Given the description of an element on the screen output the (x, y) to click on. 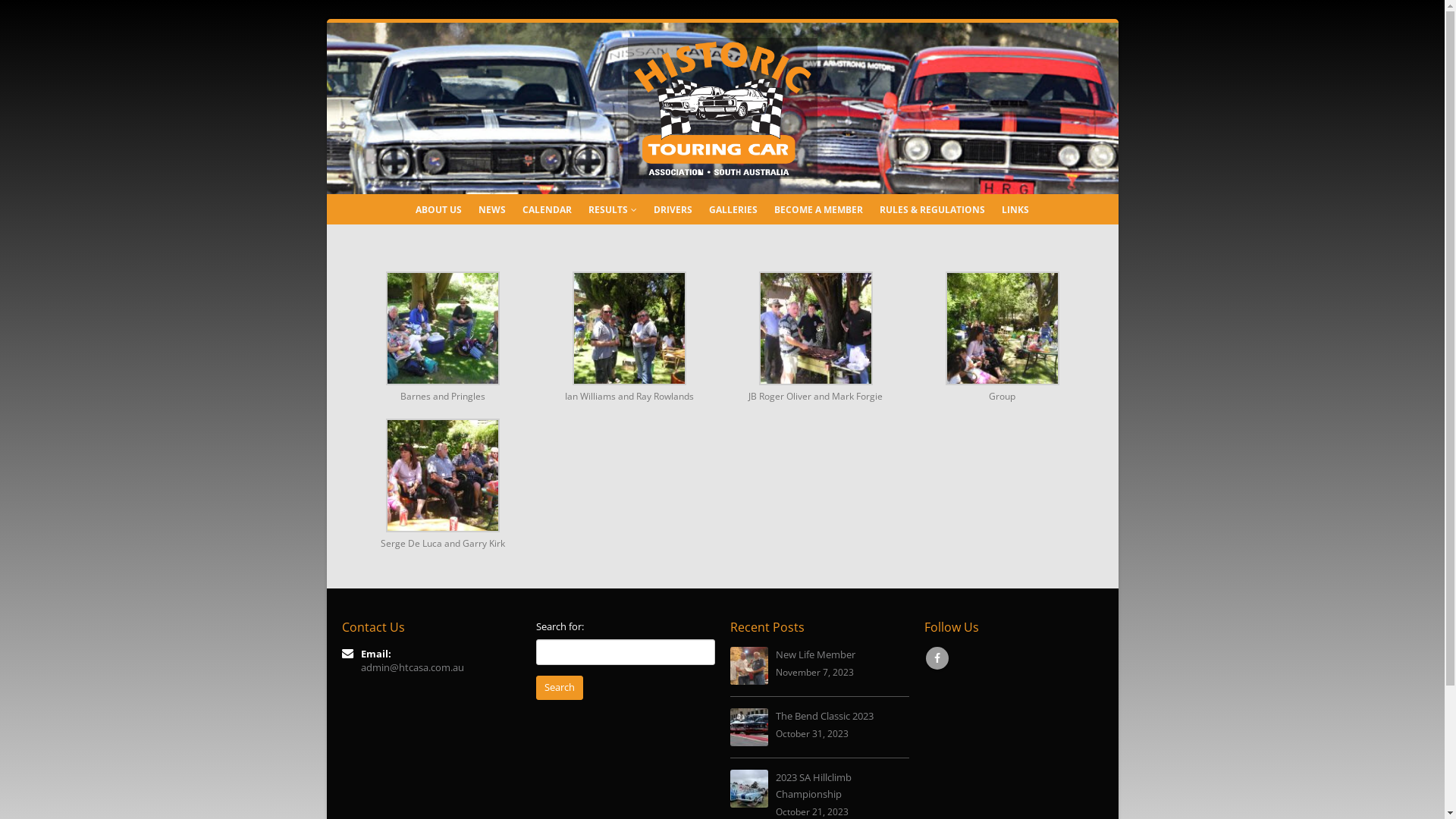
DRIVERS Element type: text (672, 209)
RESULTS Element type: text (612, 209)
2023 SA Hillclimb Championship Element type: text (812, 785)
BECOME A MEMBER Element type: text (818, 209)
The Bend Classic 2023 Element type: text (823, 715)
RULES & REGULATIONS Element type: text (932, 209)
LINKS Element type: text (1015, 209)
admin@htcasa.com.au Element type: text (412, 667)
Search Element type: text (558, 687)
CALENDAR Element type: text (546, 209)
HTCASA - Historic Touring Car Association of South Australia Element type: hover (722, 107)
New Life Member Element type: text (814, 654)
ABOUT US Element type: text (438, 209)
GALLERIES Element type: text (733, 209)
NEWS Element type: text (491, 209)
Facebook Element type: text (936, 657)
